Given the description of an element on the screen output the (x, y) to click on. 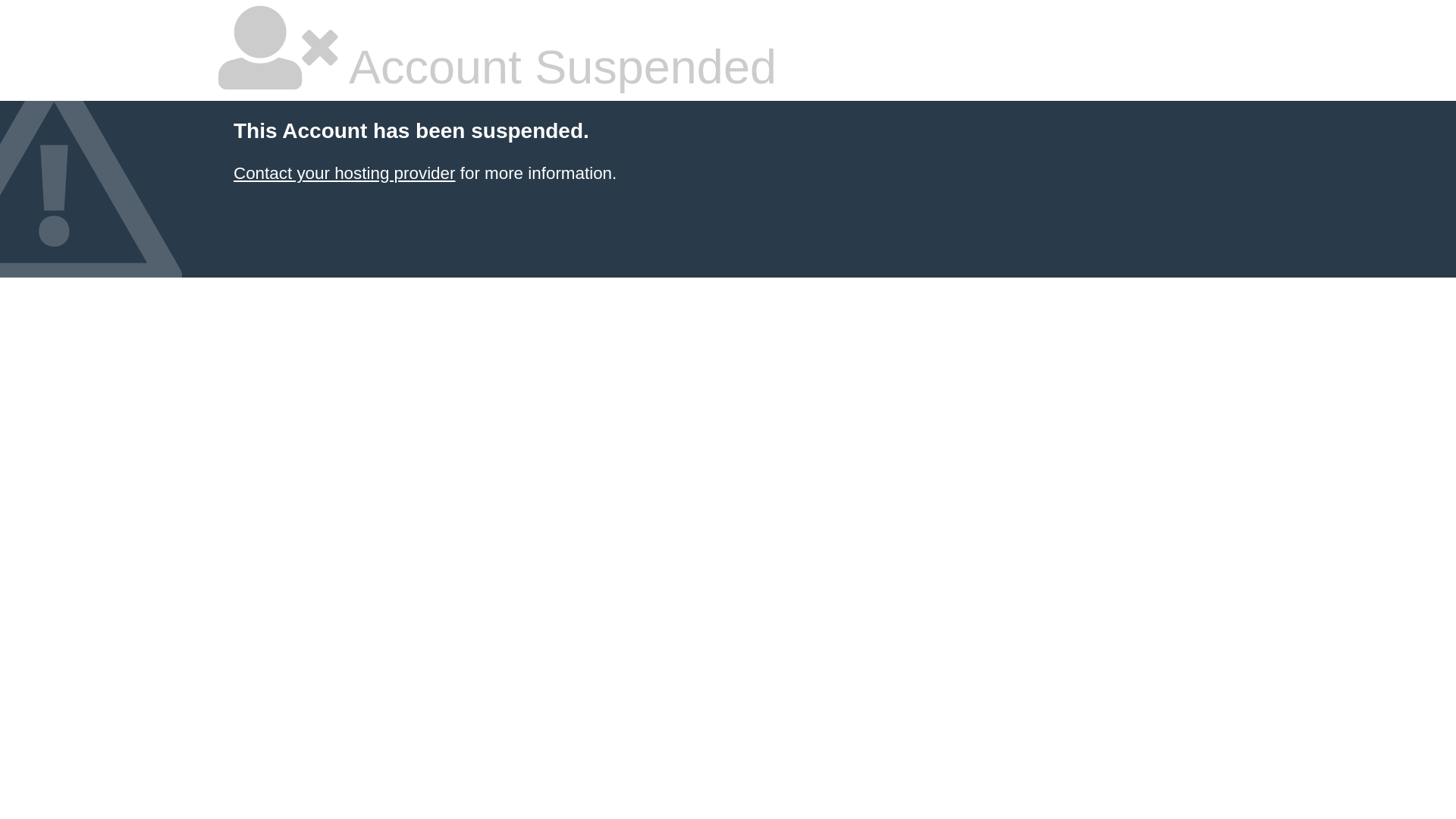
Contact your hosting provider Element type: text (344, 172)
